Given the description of an element on the screen output the (x, y) to click on. 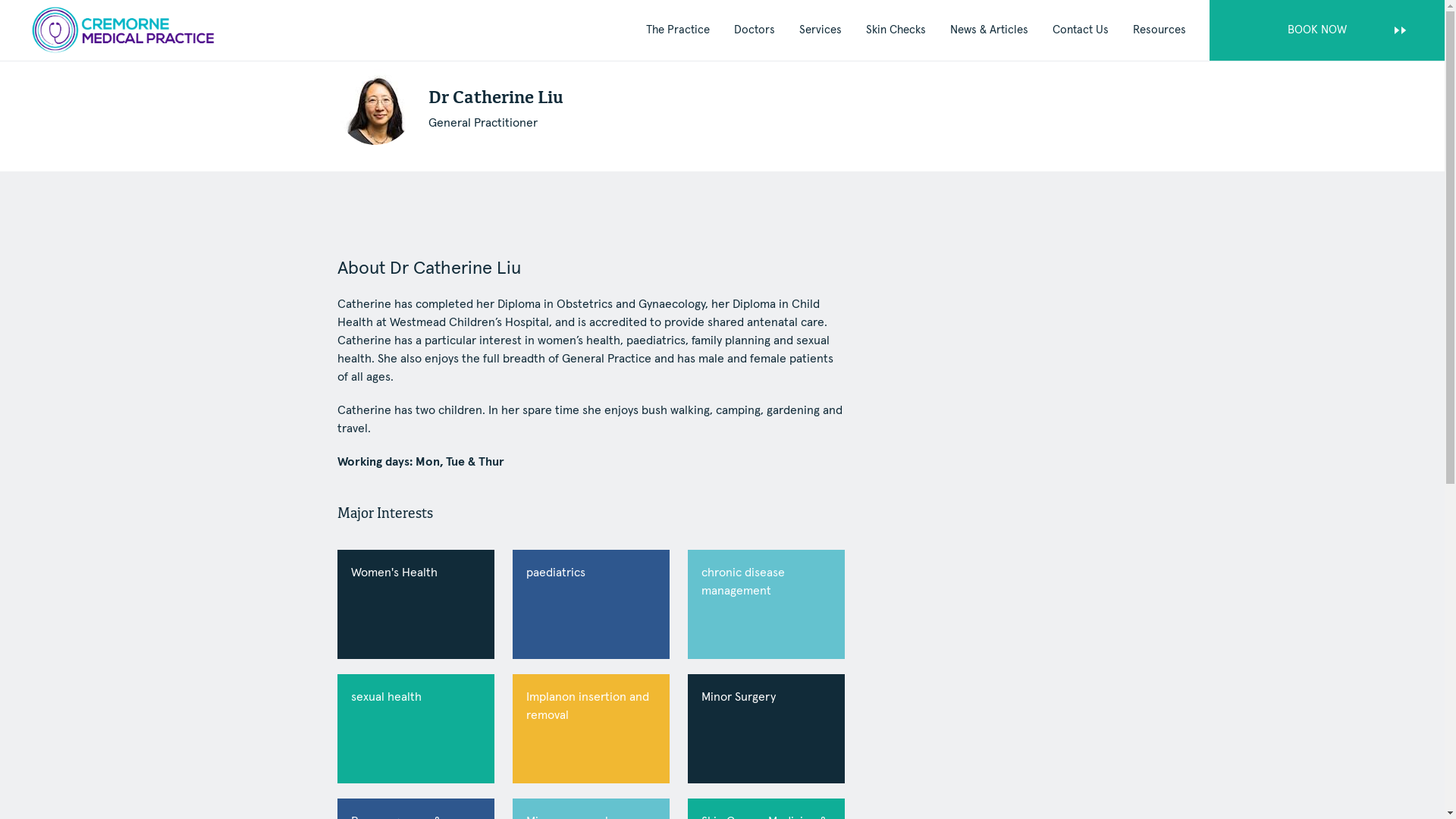
Skin Checks Element type: text (895, 30)
Resources Element type: text (1159, 30)
The Practice Element type: text (677, 30)
BOOK NOW Element type: text (1326, 30)
Contact Us Element type: text (1080, 30)
News & Articles Element type: text (989, 30)
Doctors Element type: text (754, 30)
Services Element type: text (820, 30)
